Given the description of an element on the screen output the (x, y) to click on. 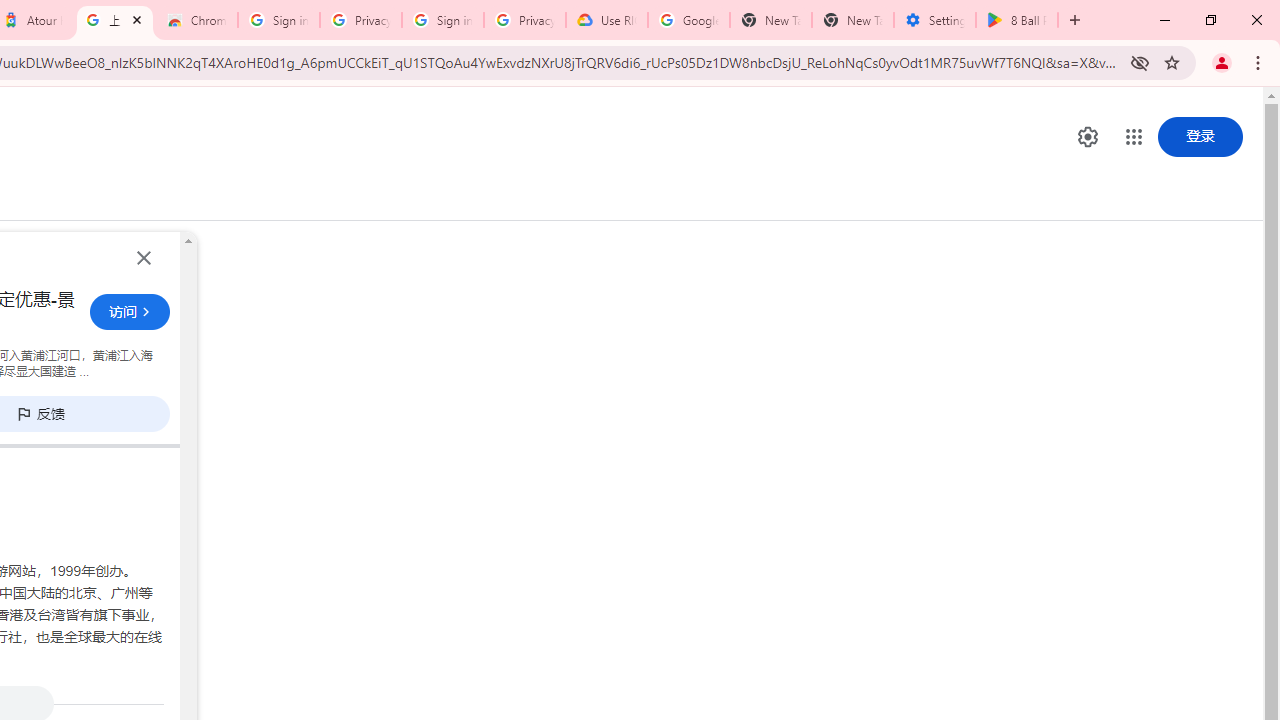
8 Ball Pool - Apps on Google Play (1016, 20)
Sign in - Google Accounts (442, 20)
